Given the description of an element on the screen output the (x, y) to click on. 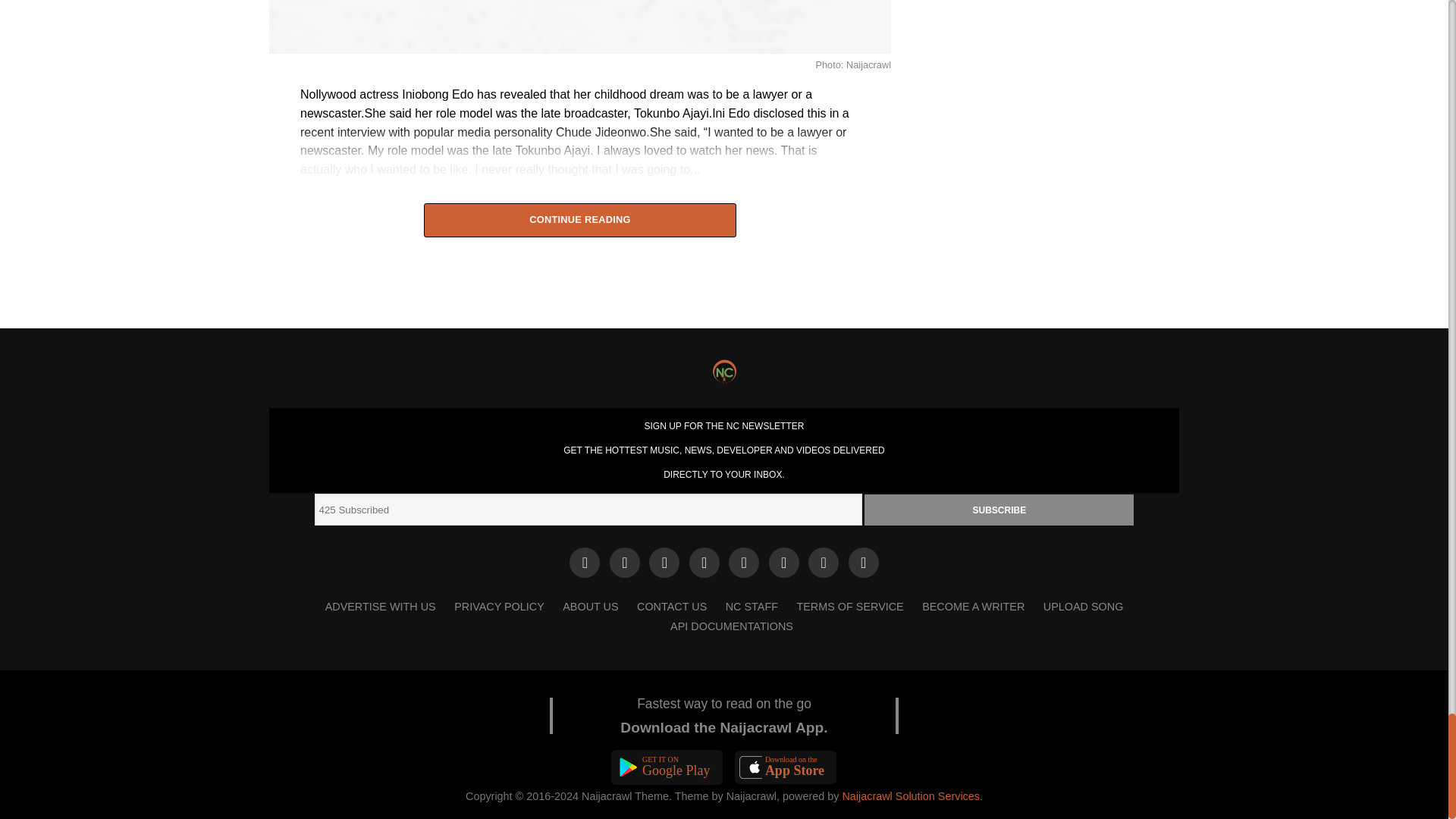
App Store (785, 767)
Google Play (667, 767)
Subscribe (999, 509)
